Given the description of an element on the screen output the (x, y) to click on. 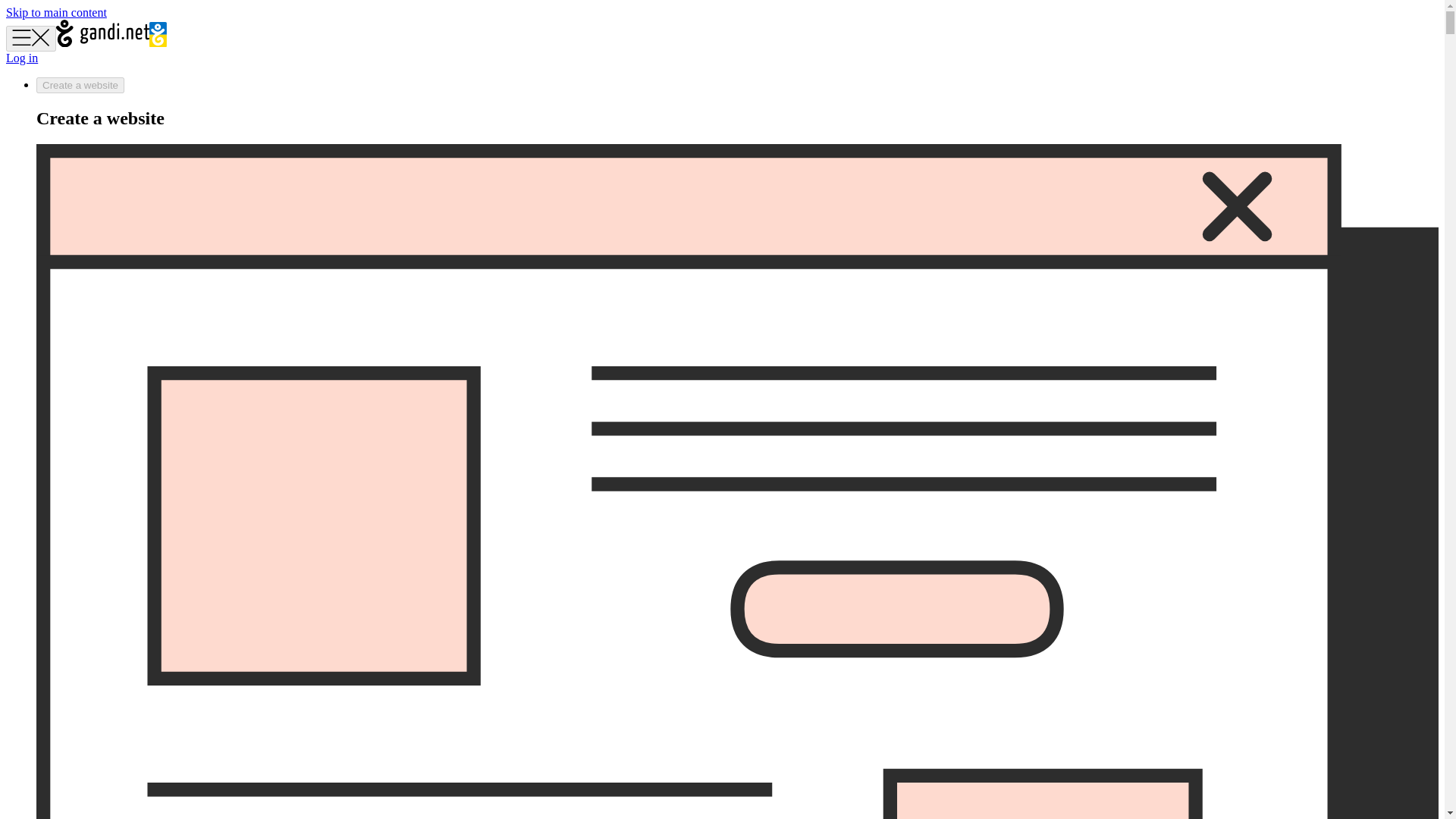
Skip to main content (55, 11)
Log in (21, 57)
Create a website (79, 84)
